Given the description of an element on the screen output the (x, y) to click on. 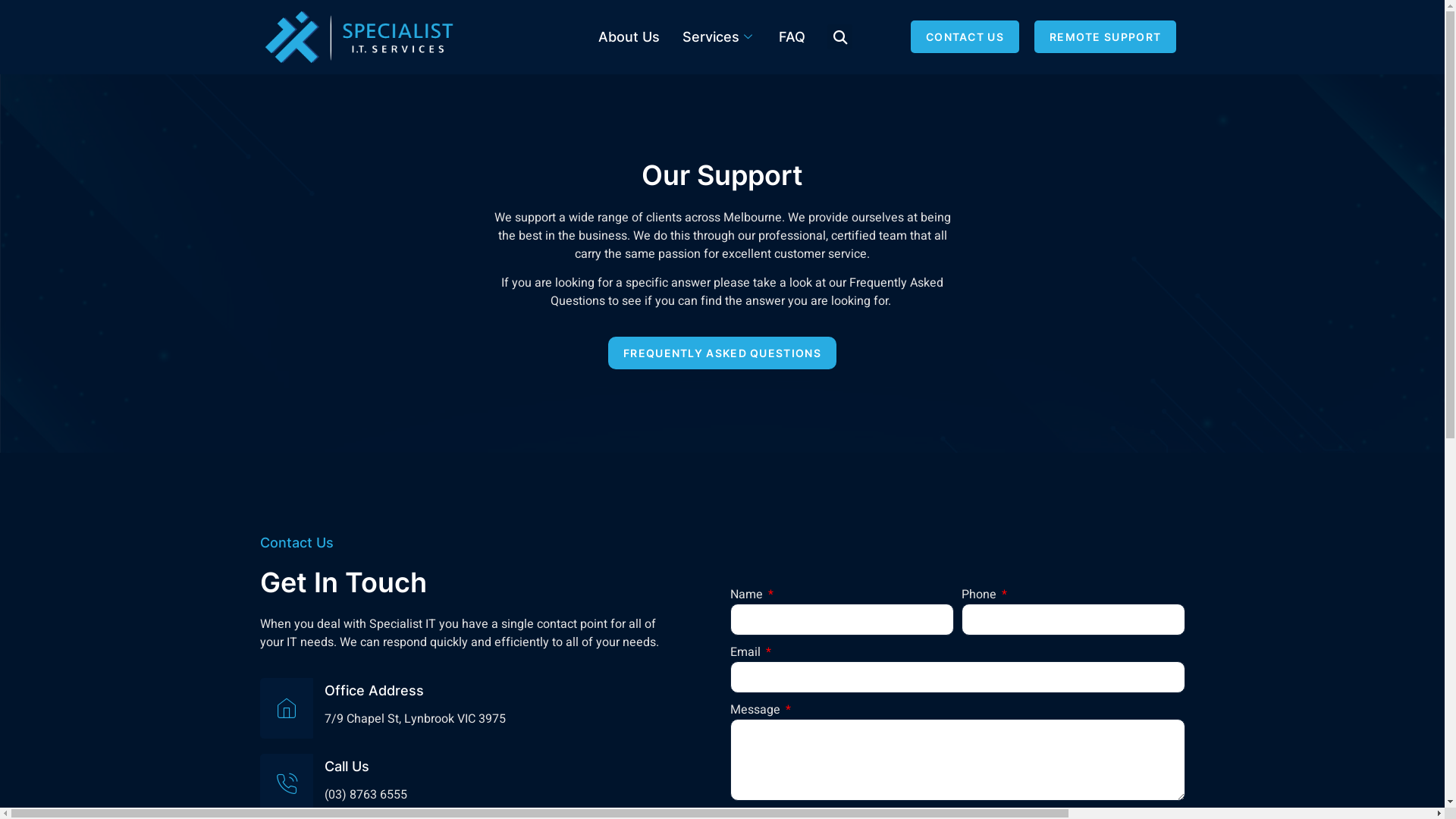
CONTACT US Element type: text (964, 36)
REMOTE SUPPORT Element type: text (1105, 36)
About Us Element type: text (628, 36)
Services Element type: text (718, 36)
FAQ Element type: text (791, 36)
FREQUENTLY ASKED QUESTIONS Element type: text (722, 352)
